Given the description of an element on the screen output the (x, y) to click on. 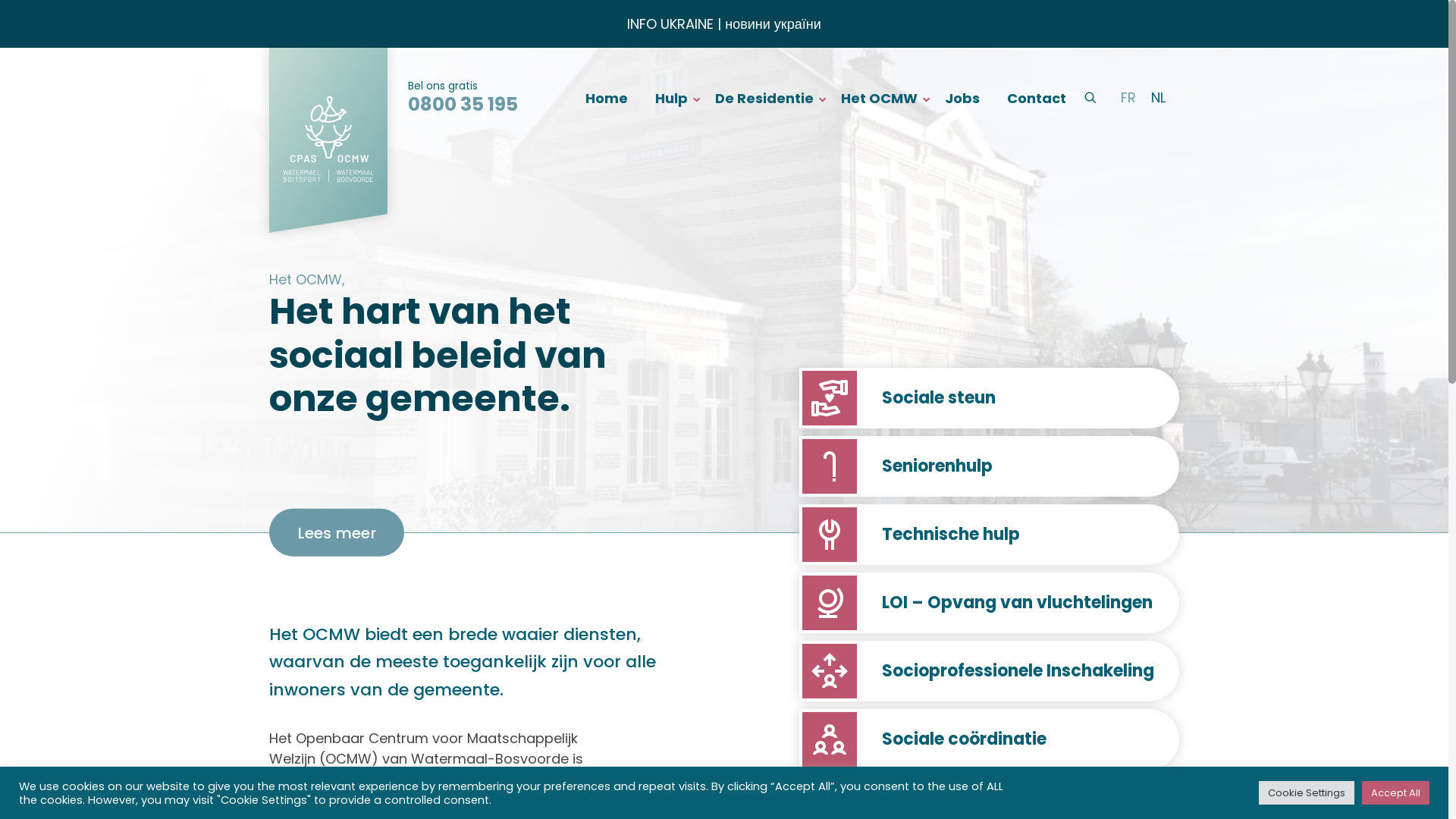
Cookie Settings Element type: text (1306, 792)
Jobs Element type: text (961, 96)
Accept All Element type: text (1395, 792)
Hulp Element type: text (671, 96)
Het OCMW Element type: text (878, 96)
Home Element type: text (606, 96)
FR Element type: text (1128, 97)
NL Element type: text (1158, 97)
Seniorenhulp Element type: text (989, 466)
Socioprofessionele Inschakeling Element type: text (989, 670)
0800 35 195 Element type: text (462, 104)
Technische hulp Element type: text (989, 534)
Lees meer Element type: text (336, 531)
Contact Element type: text (1036, 96)
De Residentie Element type: text (764, 96)
Sociale steun Element type: text (989, 397)
